Given the description of an element on the screen output the (x, y) to click on. 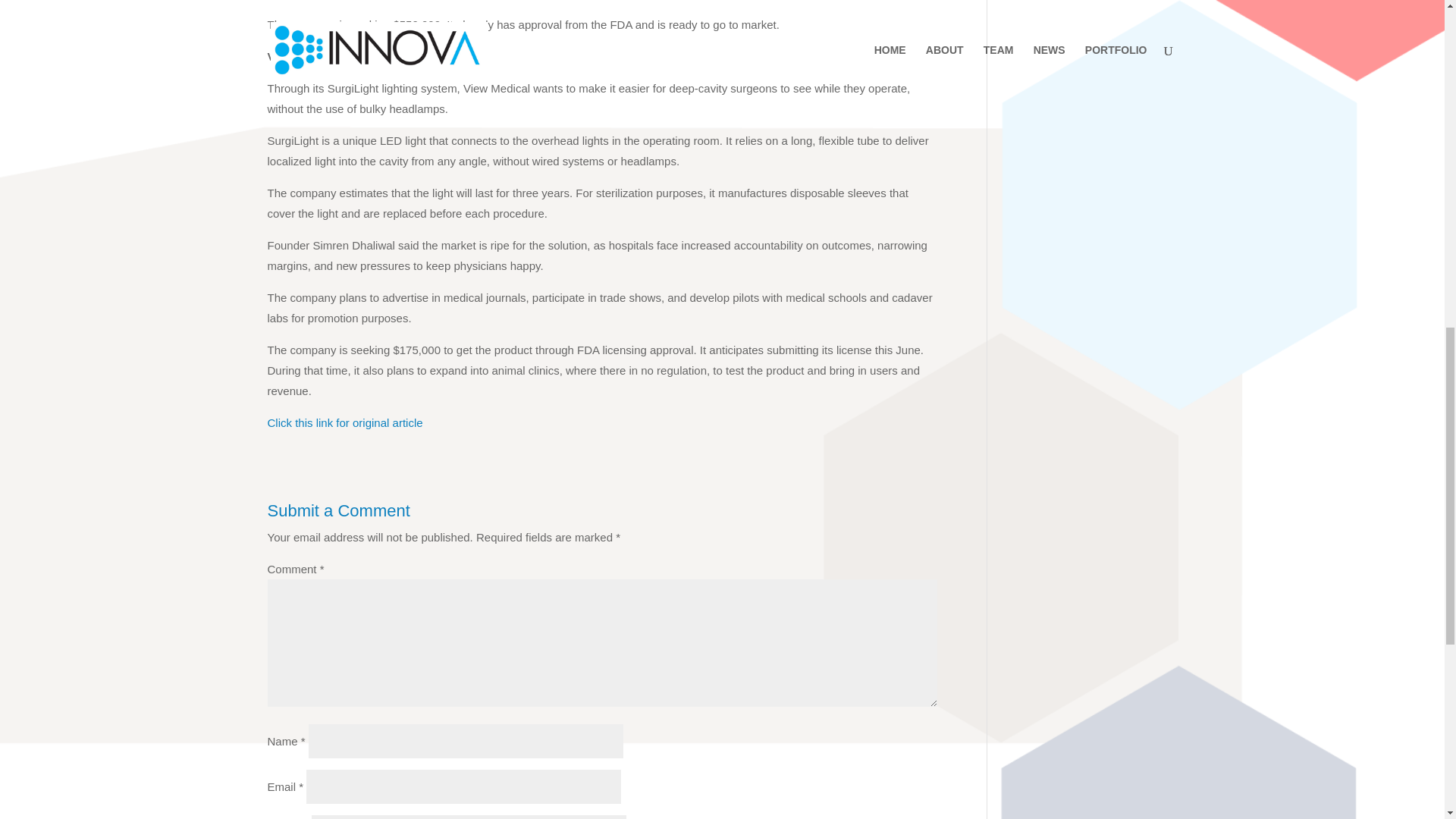
Click this link for original article (344, 422)
